Given the description of an element on the screen output the (x, y) to click on. 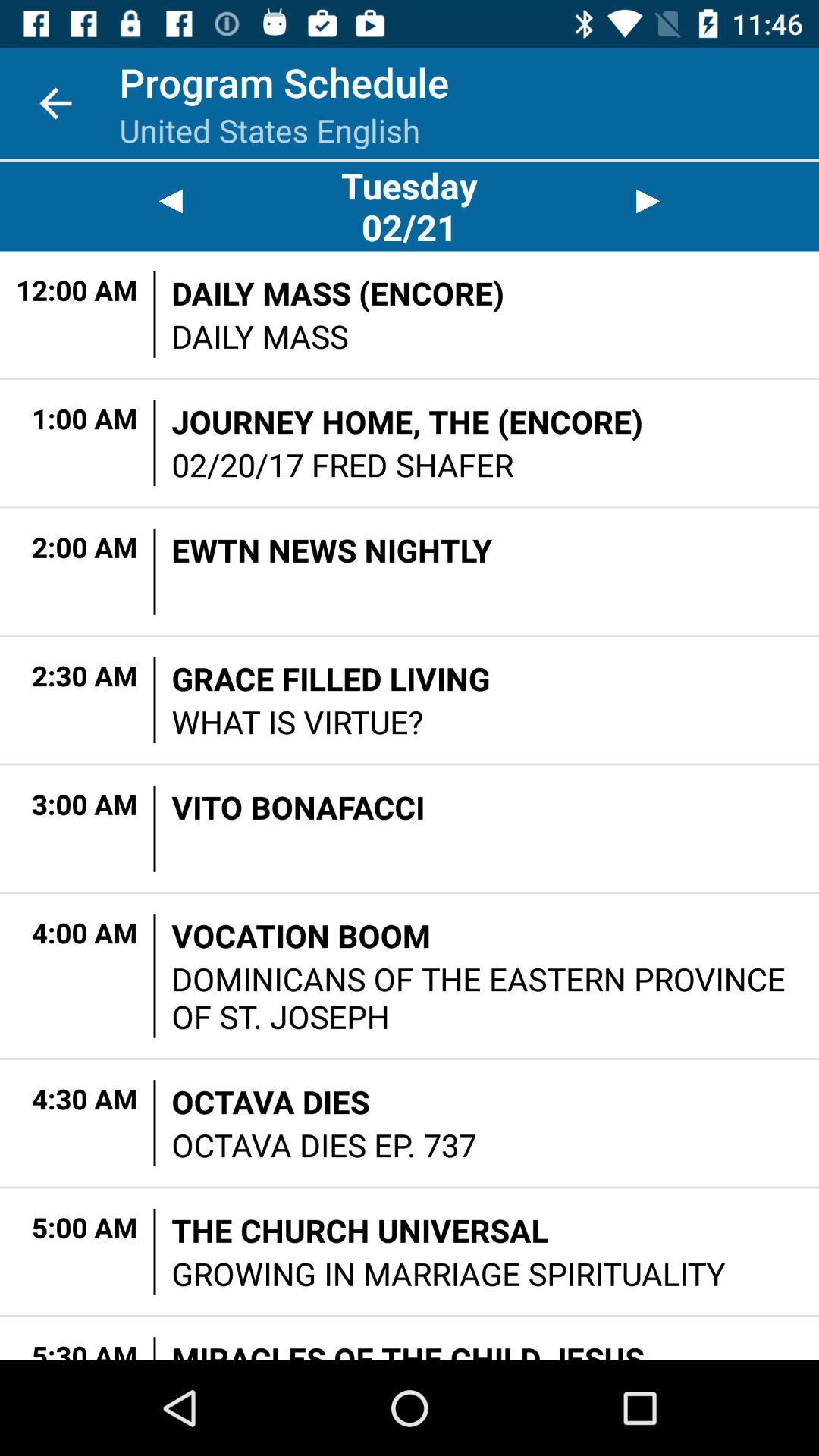
click vito bonafacci item (297, 806)
